Given the description of an element on the screen output the (x, y) to click on. 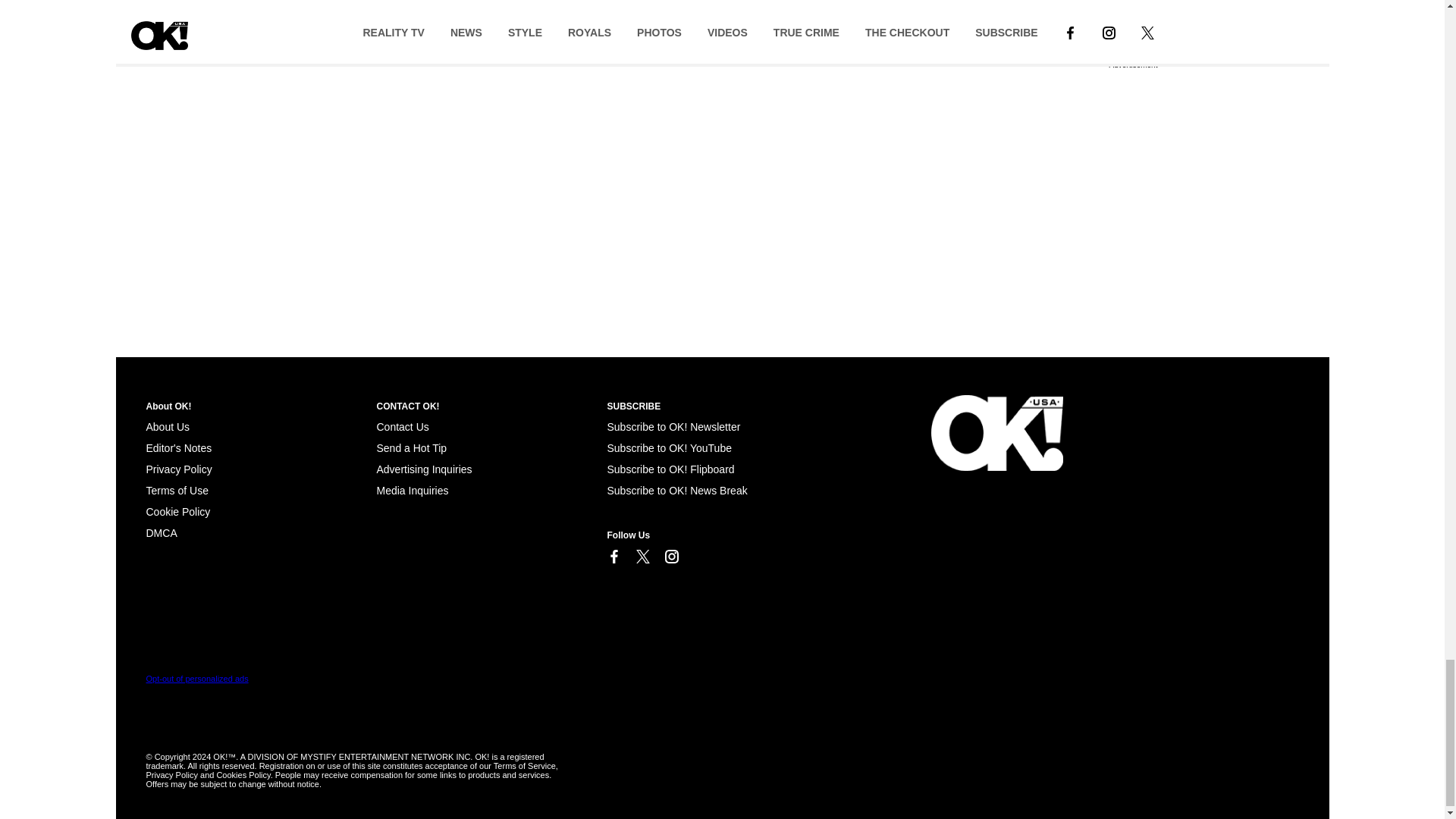
Cookie Policy (177, 511)
Send a Hot Tip (410, 448)
Editor's Notes (178, 448)
Privacy Policy (178, 469)
Media Inquiries (411, 490)
About Us (167, 426)
Link to X (641, 556)
Terms of Use (176, 490)
Link to Facebook (613, 556)
Contact Us (401, 426)
Advertising Inquiries (423, 469)
Cookie Policy (160, 532)
Link to Instagram (670, 556)
